Given the description of an element on the screen output the (x, y) to click on. 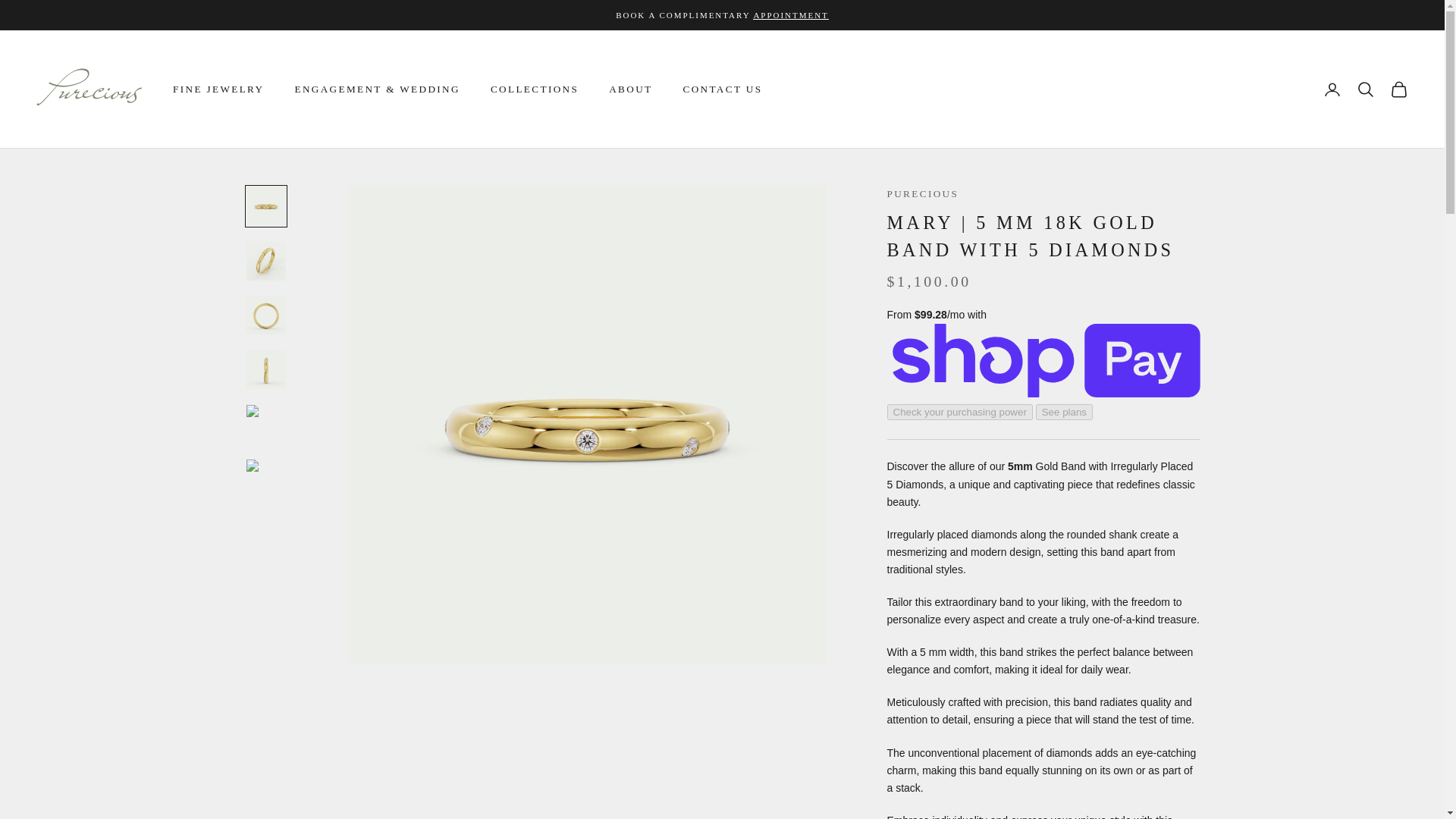
Contact (790, 14)
Open account page (1331, 89)
Open cart (1398, 89)
Open search (1365, 89)
Purecious LLC (89, 89)
APPOINTMENT (790, 14)
